Given the description of an element on the screen output the (x, y) to click on. 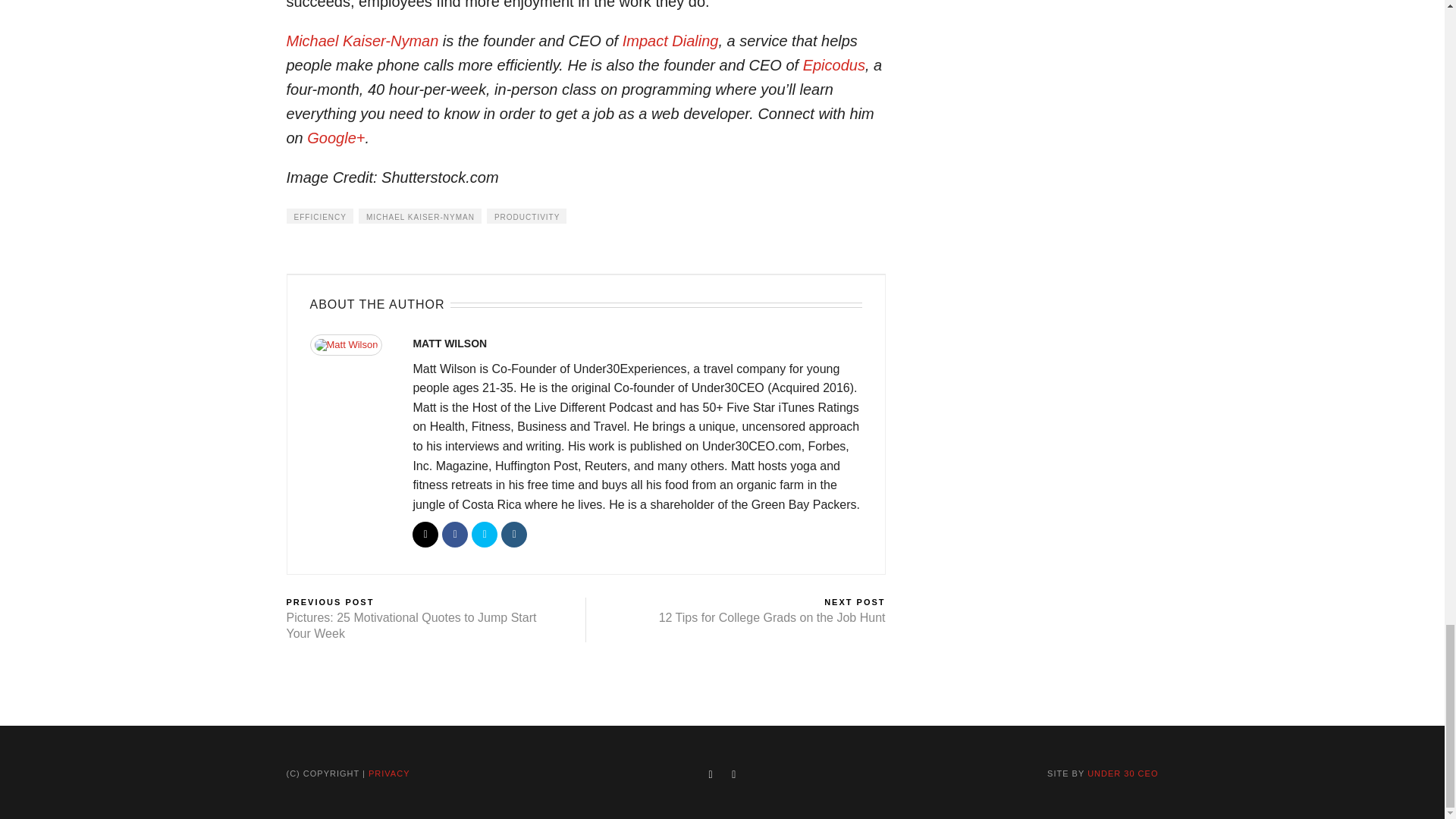
Facebook (454, 534)
Instagram (513, 534)
Visit Author Page (352, 348)
Matt Wilson 's site (425, 534)
Twitter (484, 534)
Posts by Matt Wilson (449, 343)
